Given the description of an element on the screen output the (x, y) to click on. 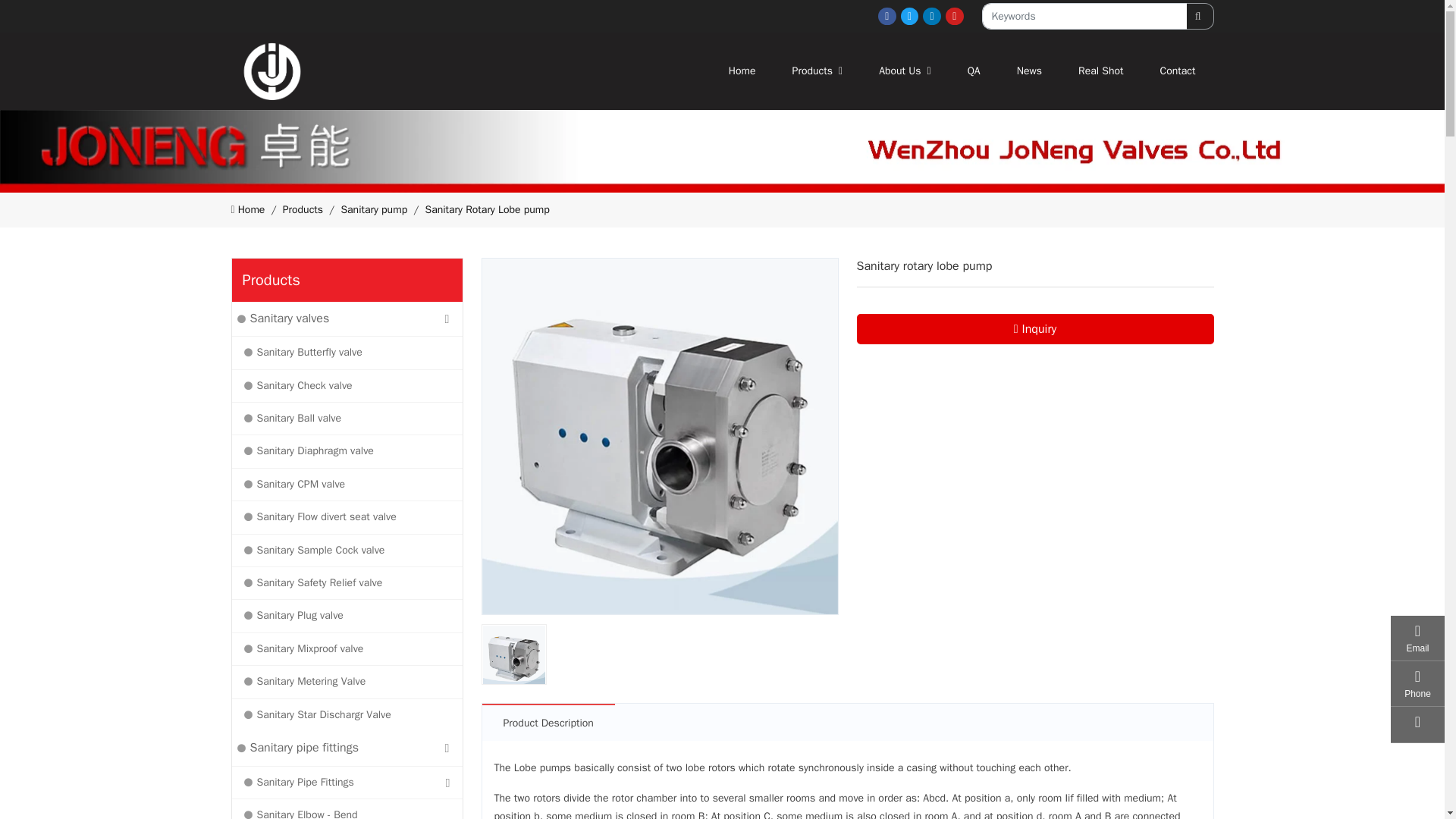
Sanitary rotary lobe pump (659, 436)
Facebook (962, 70)
Home (886, 16)
Youtube (742, 70)
Twitter (953, 16)
LinkedIn (909, 16)
Products (931, 16)
